Given the description of an element on the screen output the (x, y) to click on. 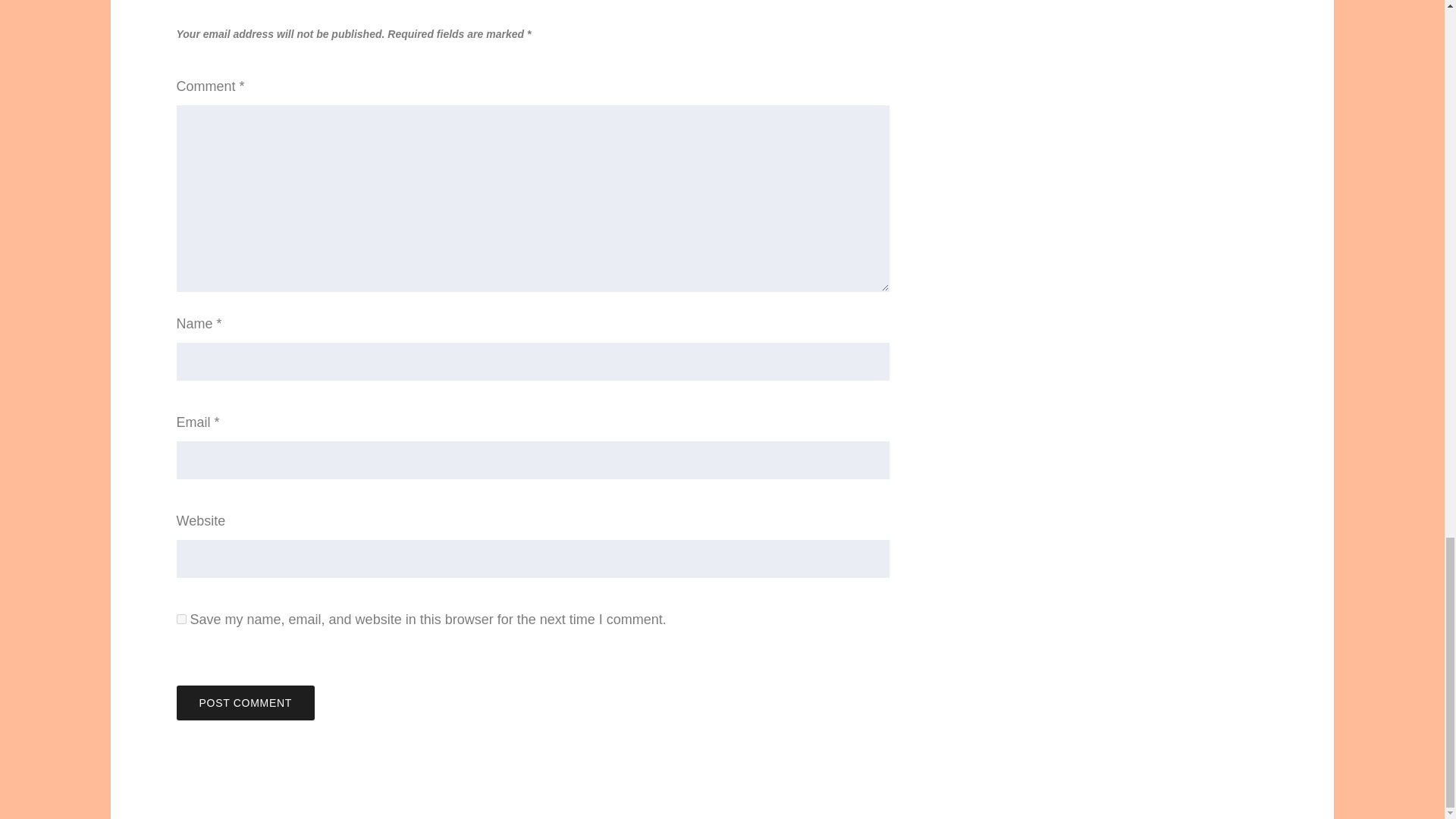
Post Comment (245, 702)
Post Comment (245, 702)
yes (181, 619)
